Given the description of an element on the screen output the (x, y) to click on. 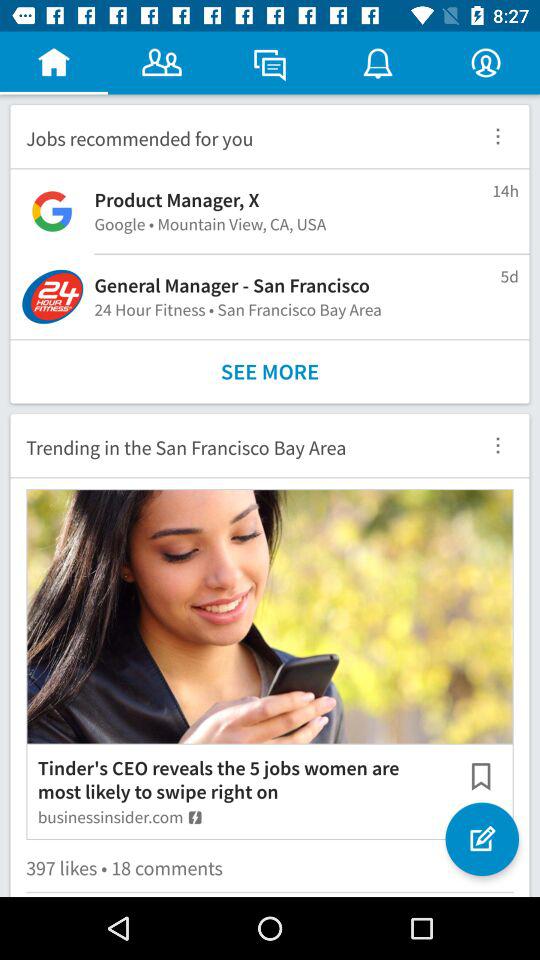
launch the item to the right of the tinder s ceo (482, 839)
